Given the description of an element on the screen output the (x, y) to click on. 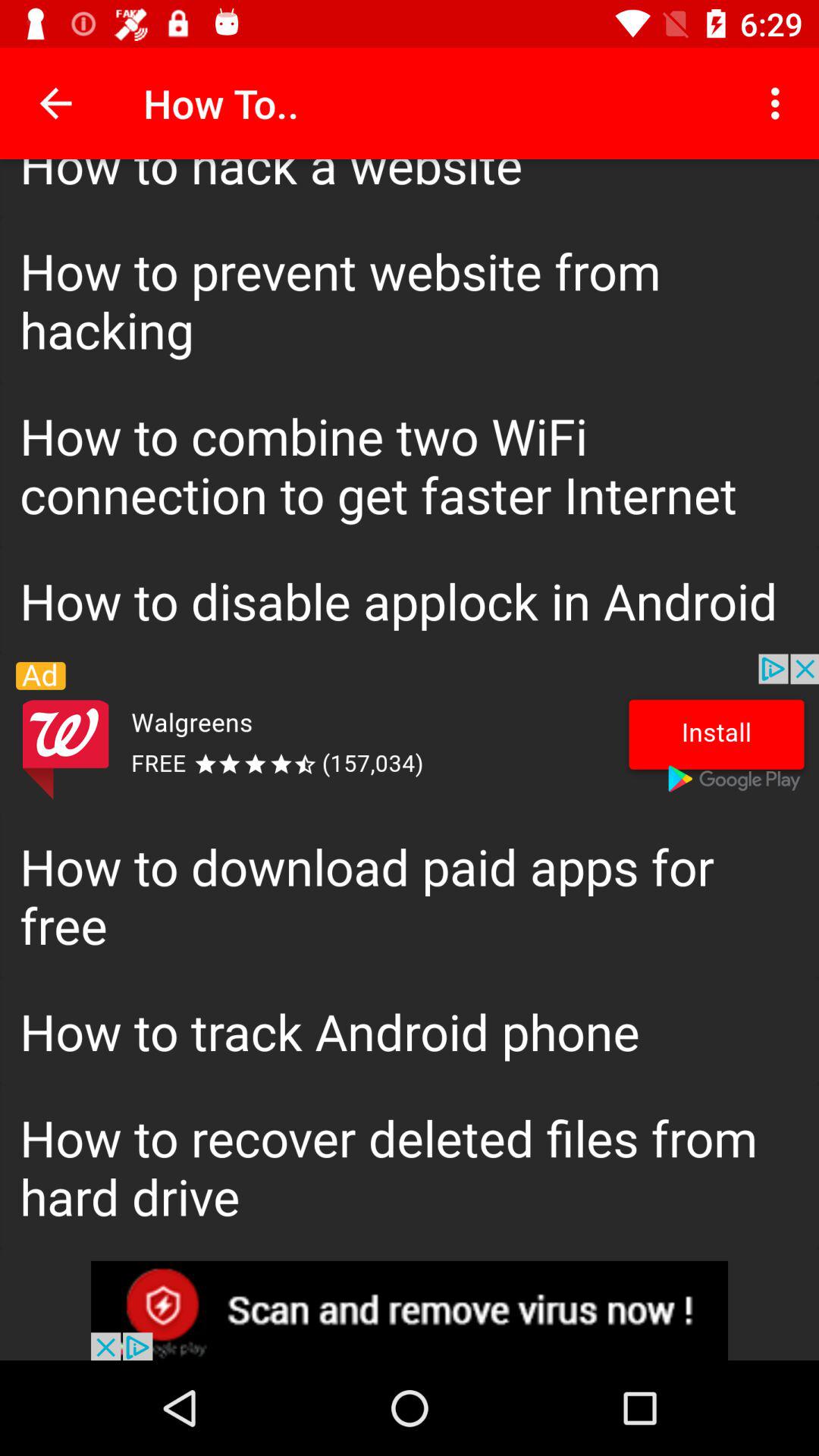
banner advertisement (409, 733)
